Given the description of an element on the screen output the (x, y) to click on. 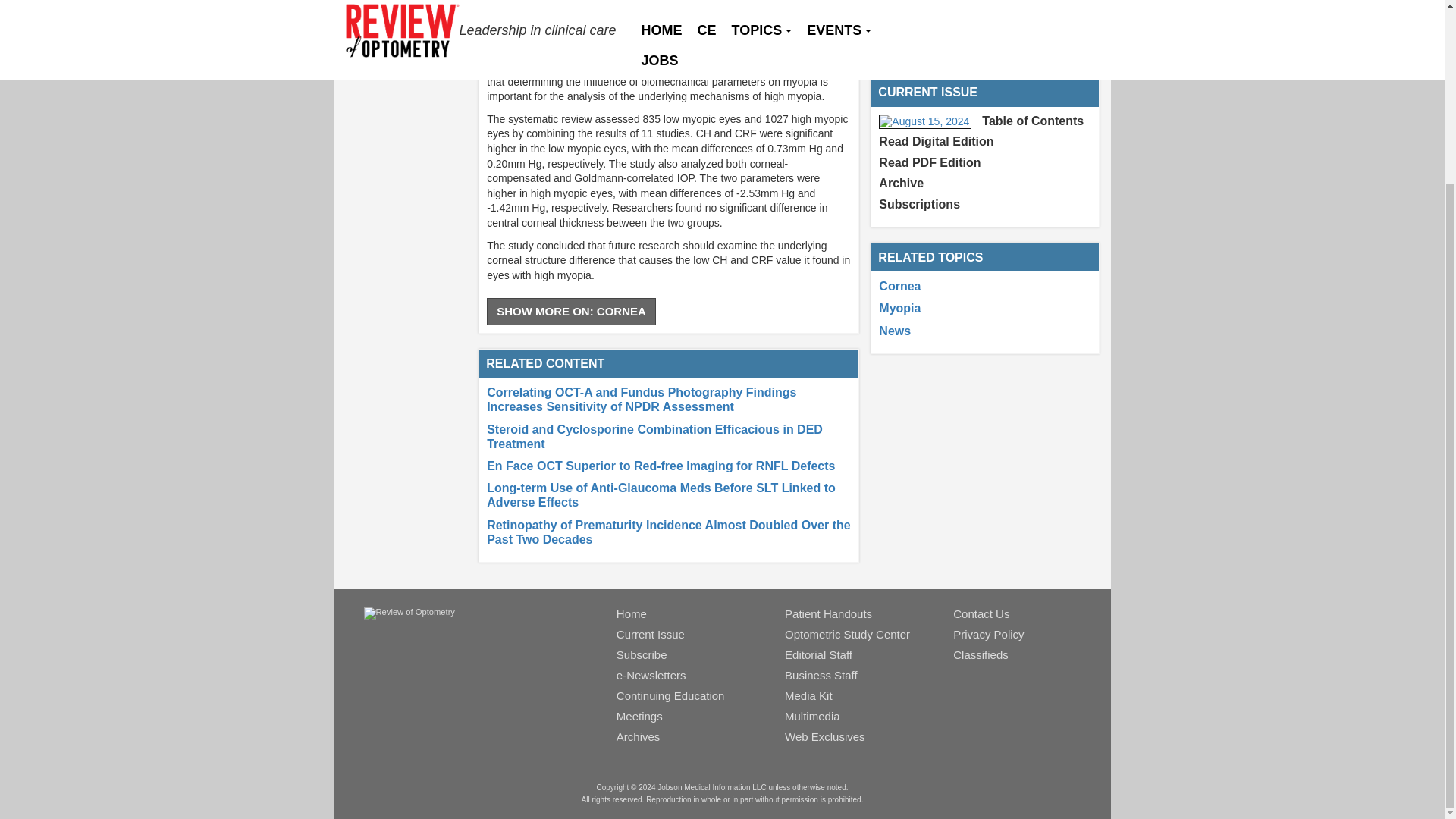
SHOW MORE ON: CORNEA (571, 311)
En Face OCT Superior to Red-free Imaging for RNFL Defects (660, 465)
Table of Contents (1032, 120)
